Given the description of an element on the screen output the (x, y) to click on. 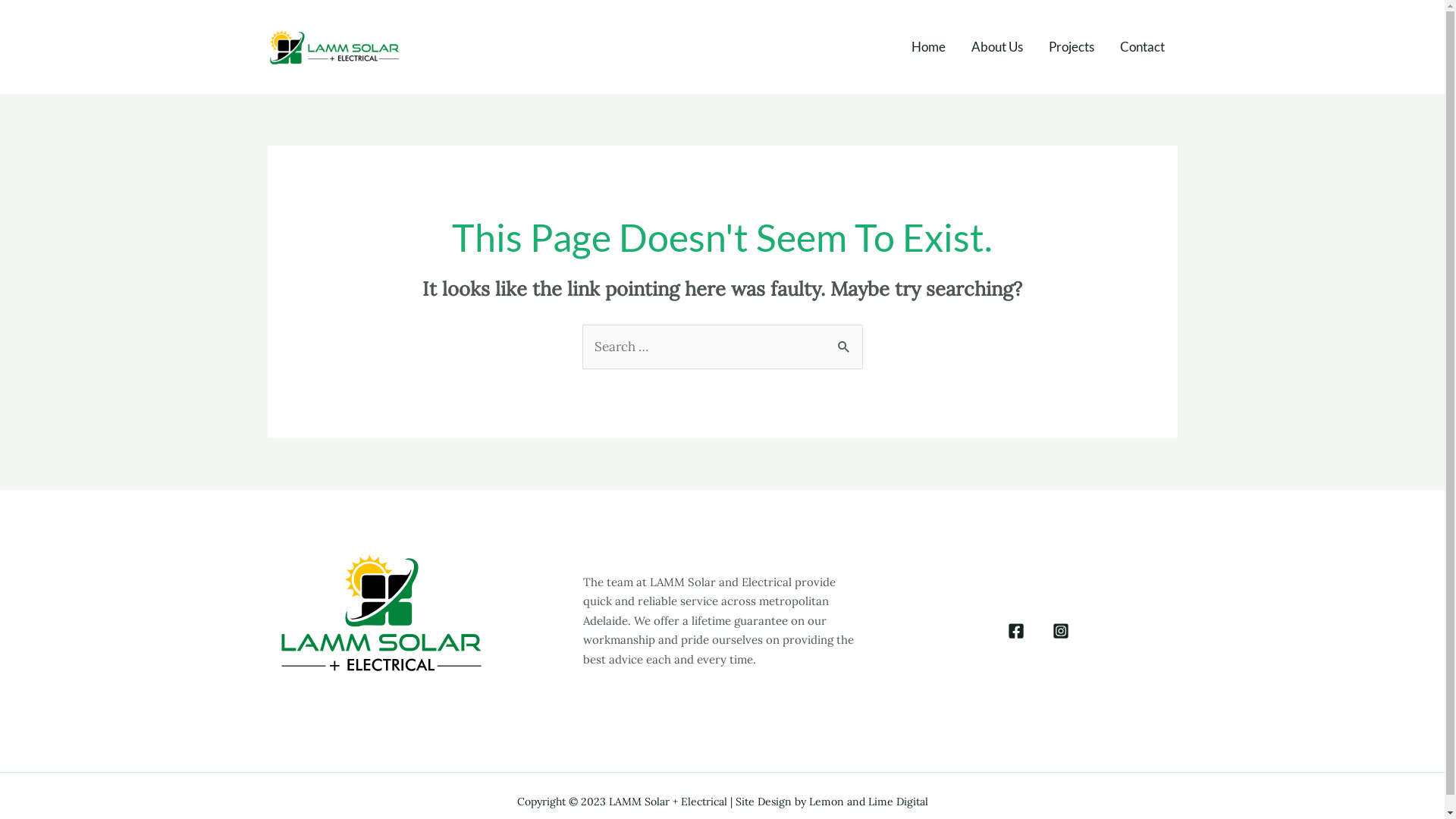
About Us Element type: text (996, 46)
Projects Element type: text (1071, 46)
Home Element type: text (927, 46)
Contact Element type: text (1142, 46)
Search Element type: text (845, 338)
